Given the description of an element on the screen output the (x, y) to click on. 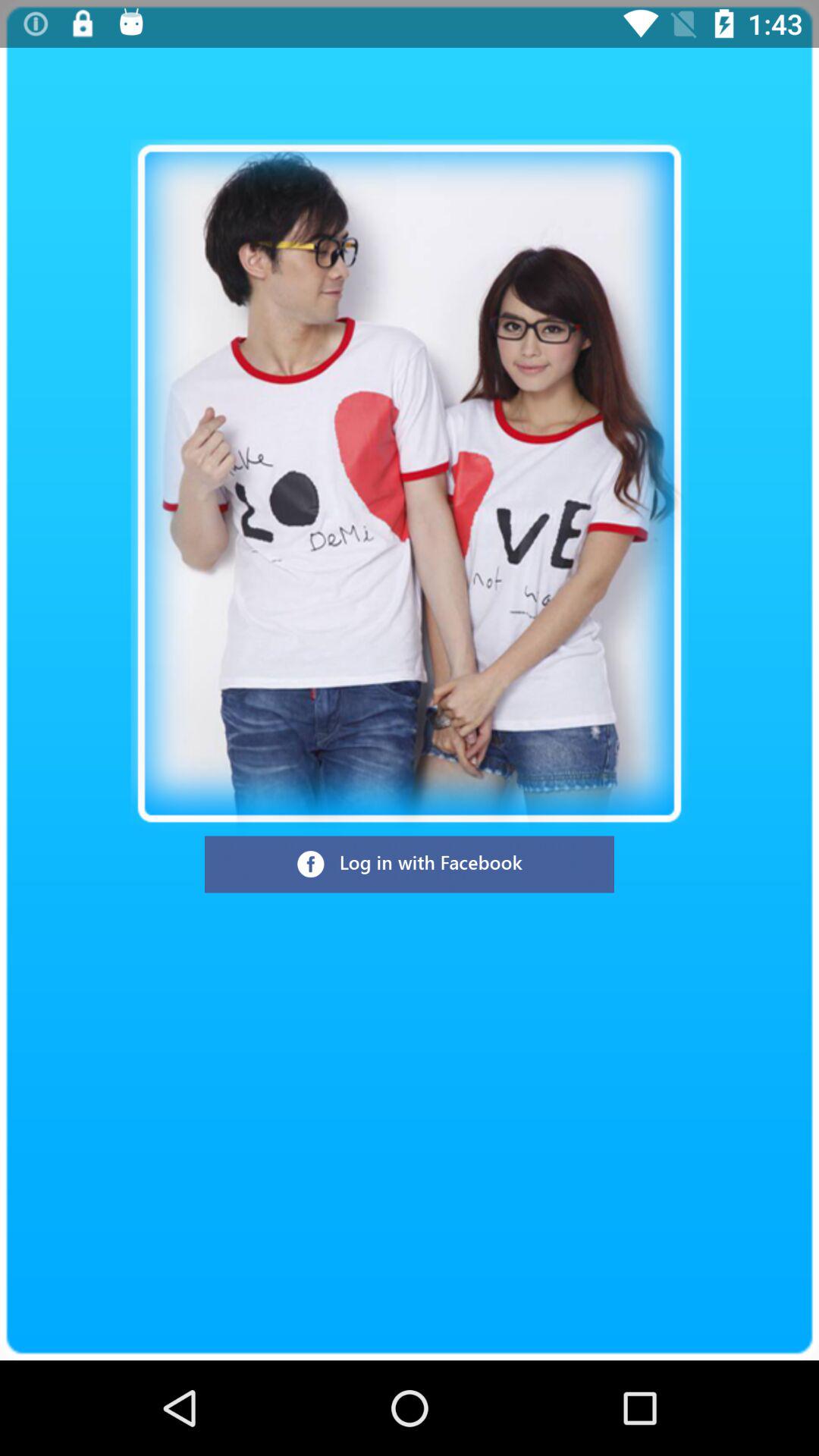
log in with facebook button (409, 864)
